Given the description of an element on the screen output the (x, y) to click on. 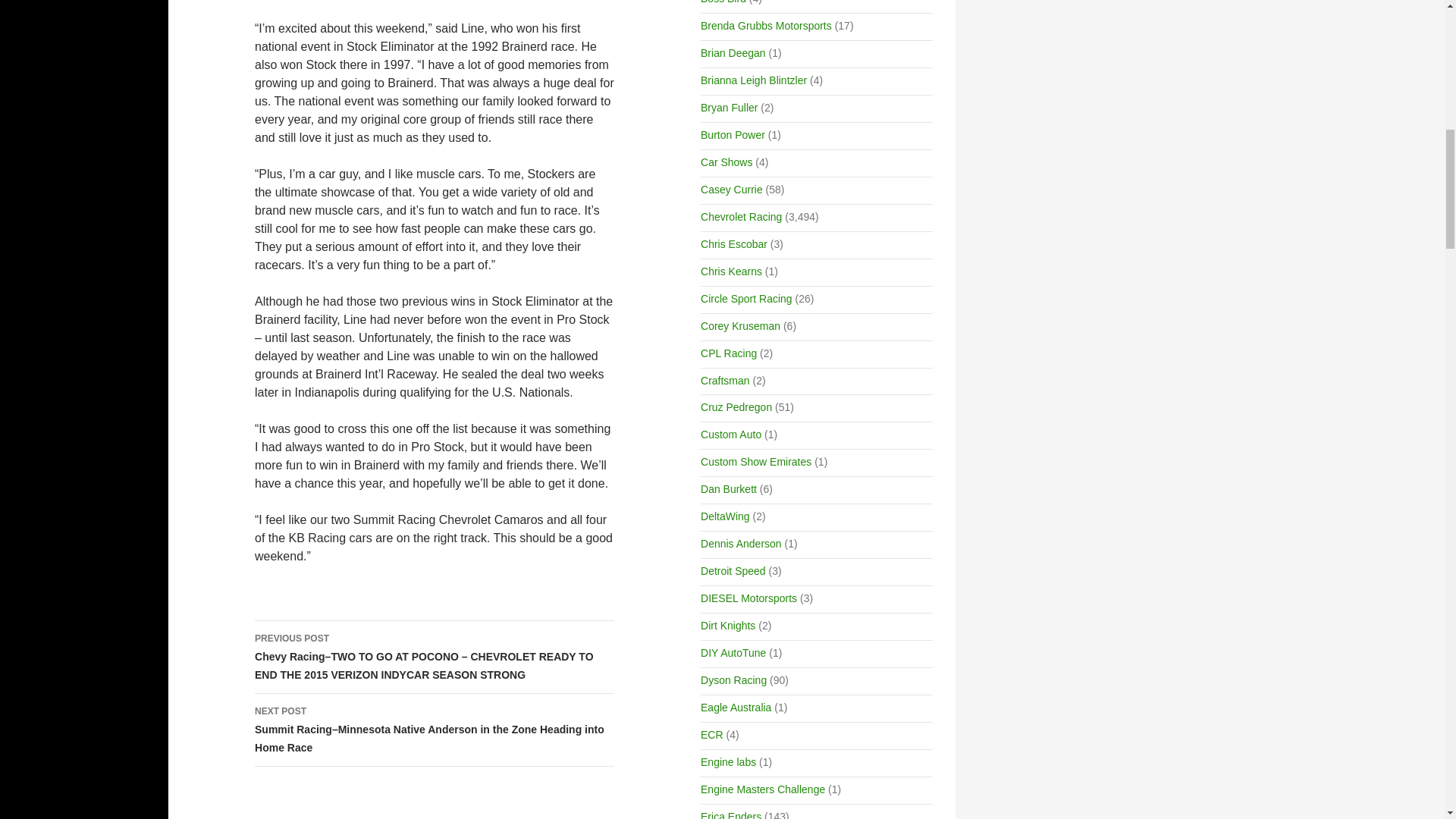
Brian Deegan (732, 52)
Chris Escobar (733, 244)
Car Shows (726, 162)
Boss Bird (722, 2)
Bryan Fuller (728, 107)
Chevrolet Racing (740, 216)
Burton Power (732, 134)
Brenda Grubbs Motorsports (765, 25)
Casey Currie (731, 189)
Brianna Leigh Blintzler (753, 80)
